Given the description of an element on the screen output the (x, y) to click on. 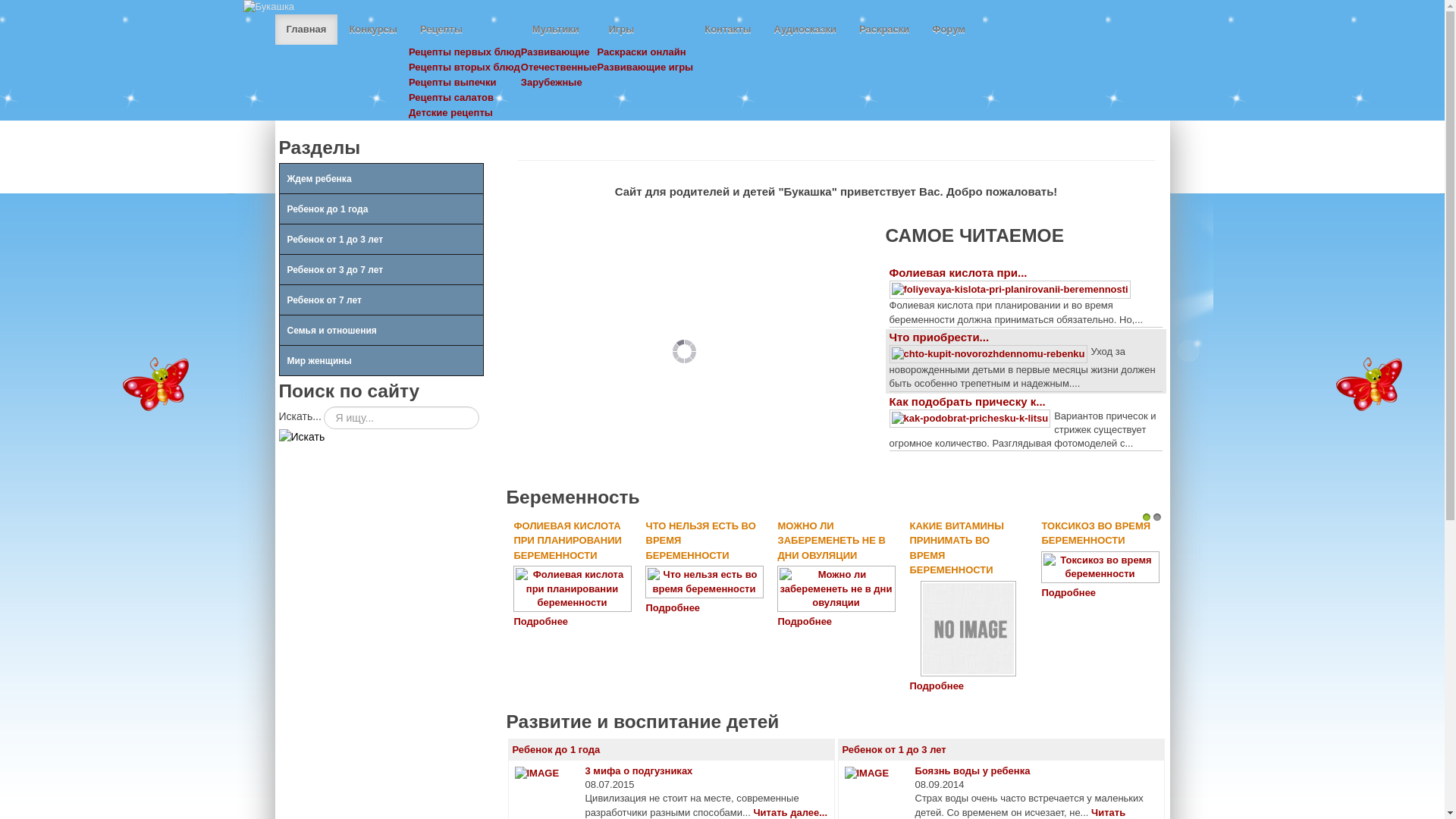
1 Element type: text (1146, 516)
2 Element type: text (1156, 516)
